Given the description of an element on the screen output the (x, y) to click on. 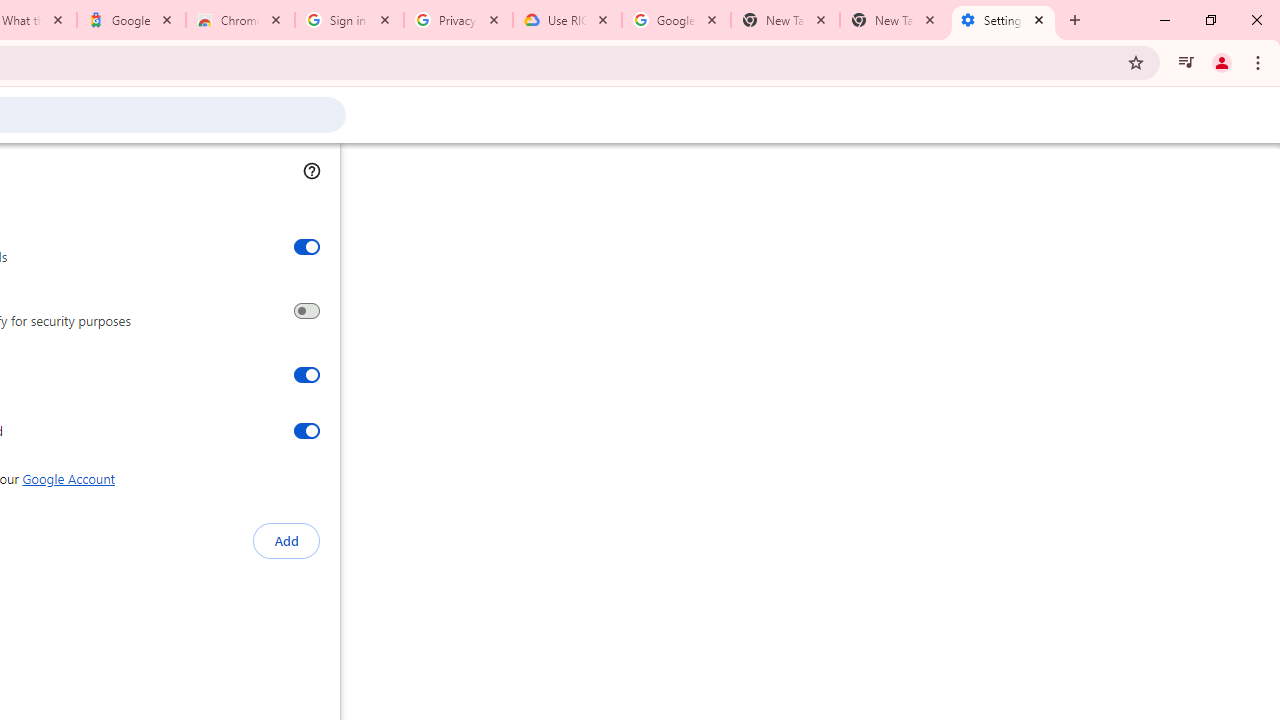
Google (130, 20)
Chrome Web Store - Color themes by Chrome (240, 20)
Sign in - Google Accounts (349, 20)
New Tab (893, 20)
Settings - Payment methods (1003, 20)
